Given the description of an element on the screen output the (x, y) to click on. 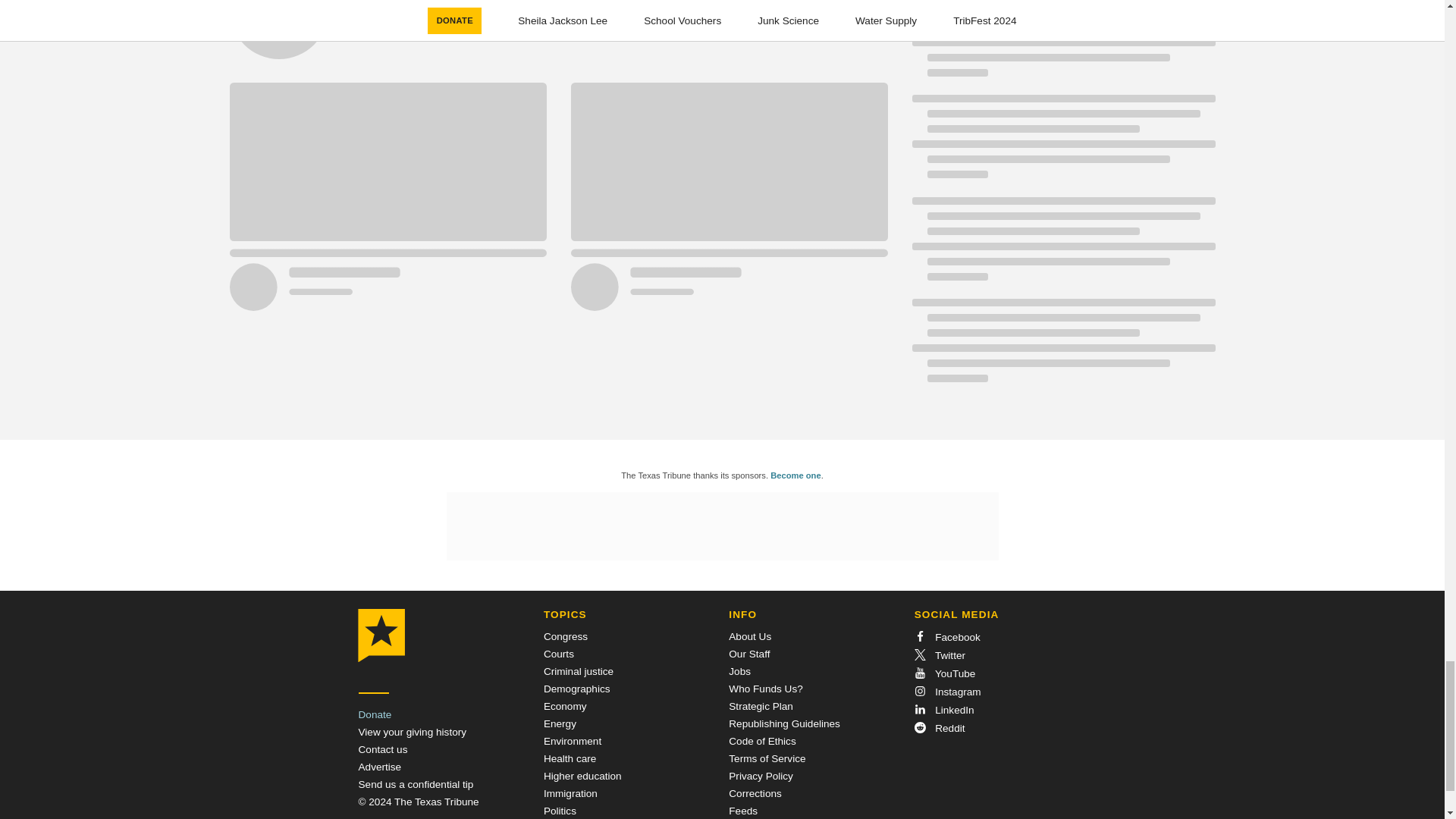
Corrections (755, 793)
Send a Tip (415, 784)
Privacy Policy (761, 776)
Feeds (743, 810)
Loading indicator (557, 39)
Donate (374, 714)
Republishing Guidelines (784, 723)
Code of Ethics (761, 740)
About Us (750, 636)
Advertise (379, 767)
Contact us (382, 749)
Strategic Plan (761, 706)
Terms of Service (767, 758)
Who Funds Us? (765, 688)
View your giving history (411, 731)
